Given the description of an element on the screen output the (x, y) to click on. 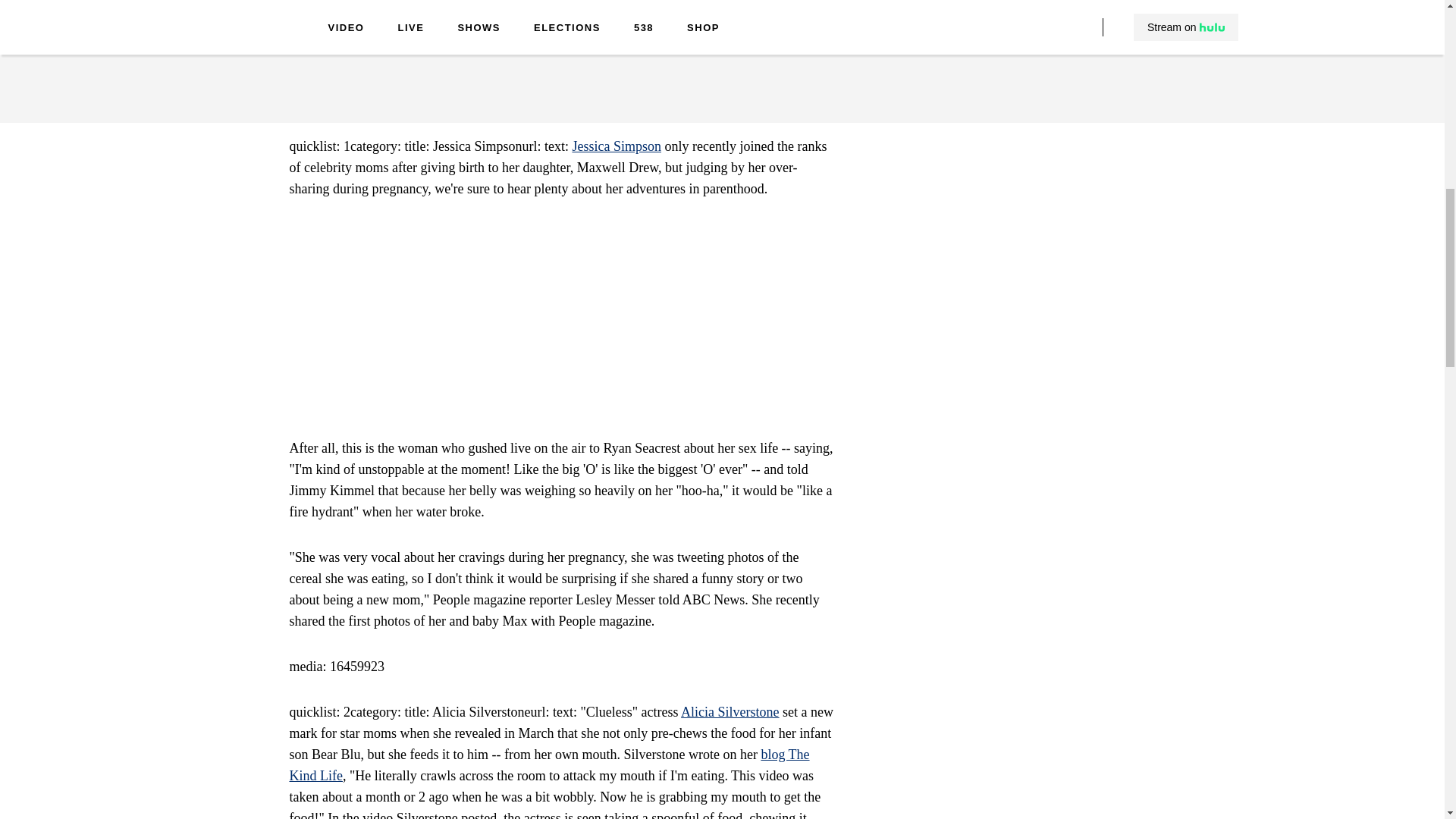
Jessica Simpson (616, 145)
Alicia Silverstone (729, 711)
blog The Kind Life (549, 764)
